Given the description of an element on the screen output the (x, y) to click on. 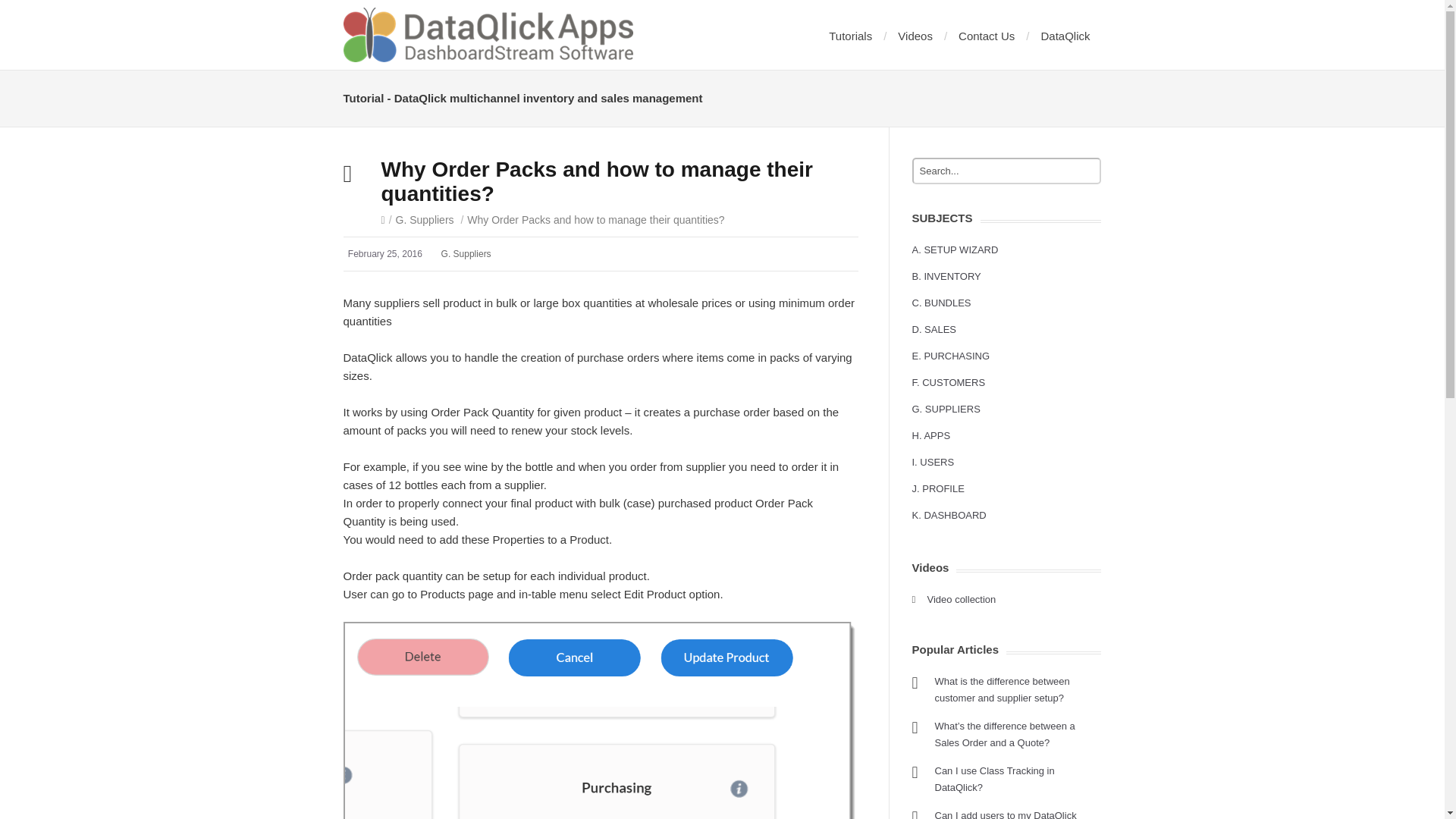
View all posts in G. Suppliers (425, 219)
C. BUNDLES (941, 302)
DataQlick Tutorials (486, 34)
A. SETUP WIZARD (954, 249)
Contact Us (986, 35)
D. SALES (933, 328)
DataQlick (1065, 35)
G. Suppliers (466, 253)
Can I add users to my DataQlick account? (1004, 814)
J. PROFILE (937, 488)
G. Suppliers (425, 219)
B. INVENTORY (945, 276)
K. DASHBOARD (948, 514)
Tutorials (850, 35)
E. PURCHASING (950, 355)
